Given the description of an element on the screen output the (x, y) to click on. 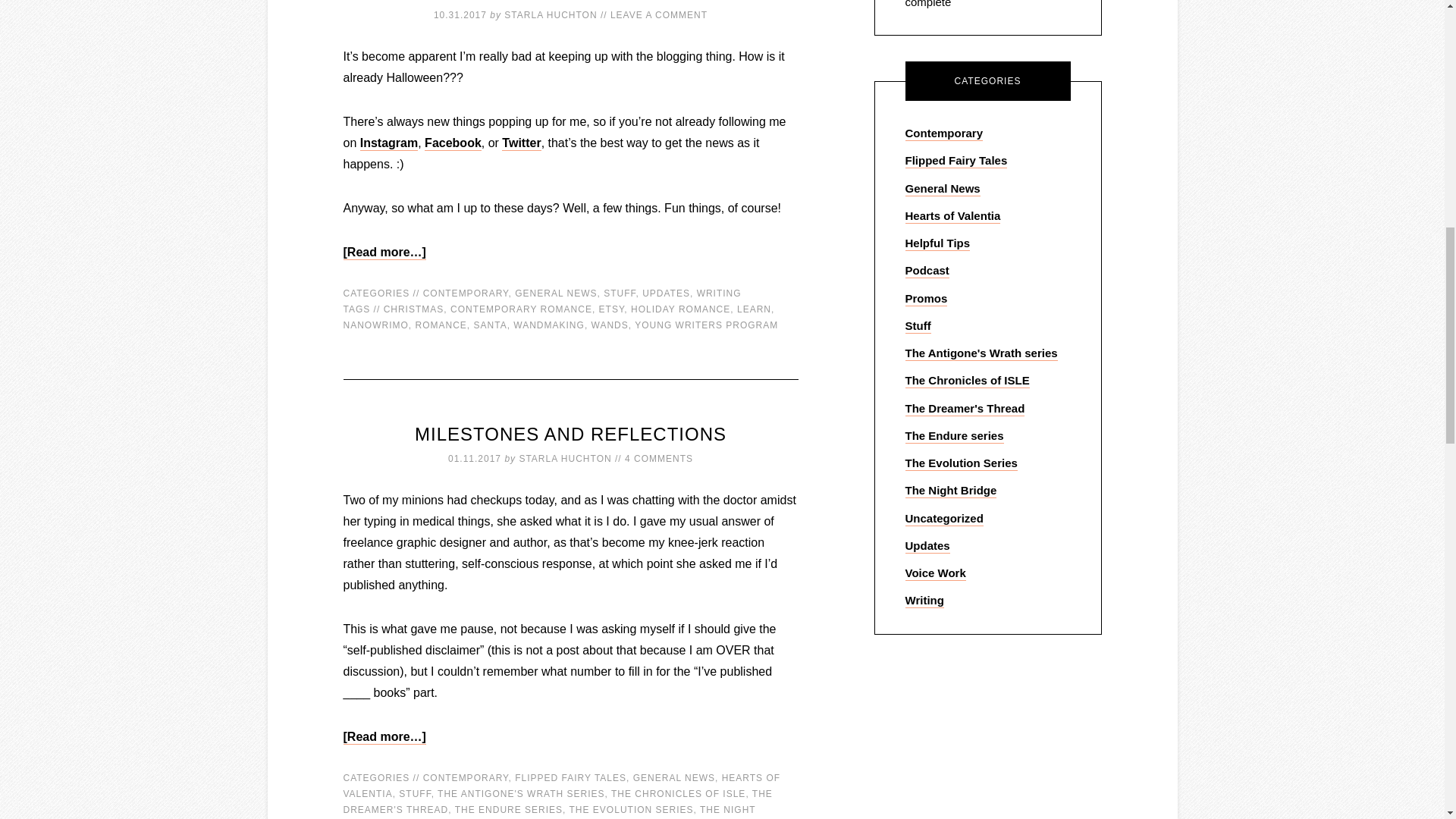
CONTEMPORARY (465, 293)
ROMANCE (440, 325)
WANDMAKING (549, 325)
UPDATES (666, 293)
STUFF (619, 293)
ETSY (611, 308)
HOLIDAY ROMANCE (680, 308)
Posts about the Endure series (954, 436)
SANTA (490, 325)
STARLA HUCHTON (549, 14)
